Given the description of an element on the screen output the (x, y) to click on. 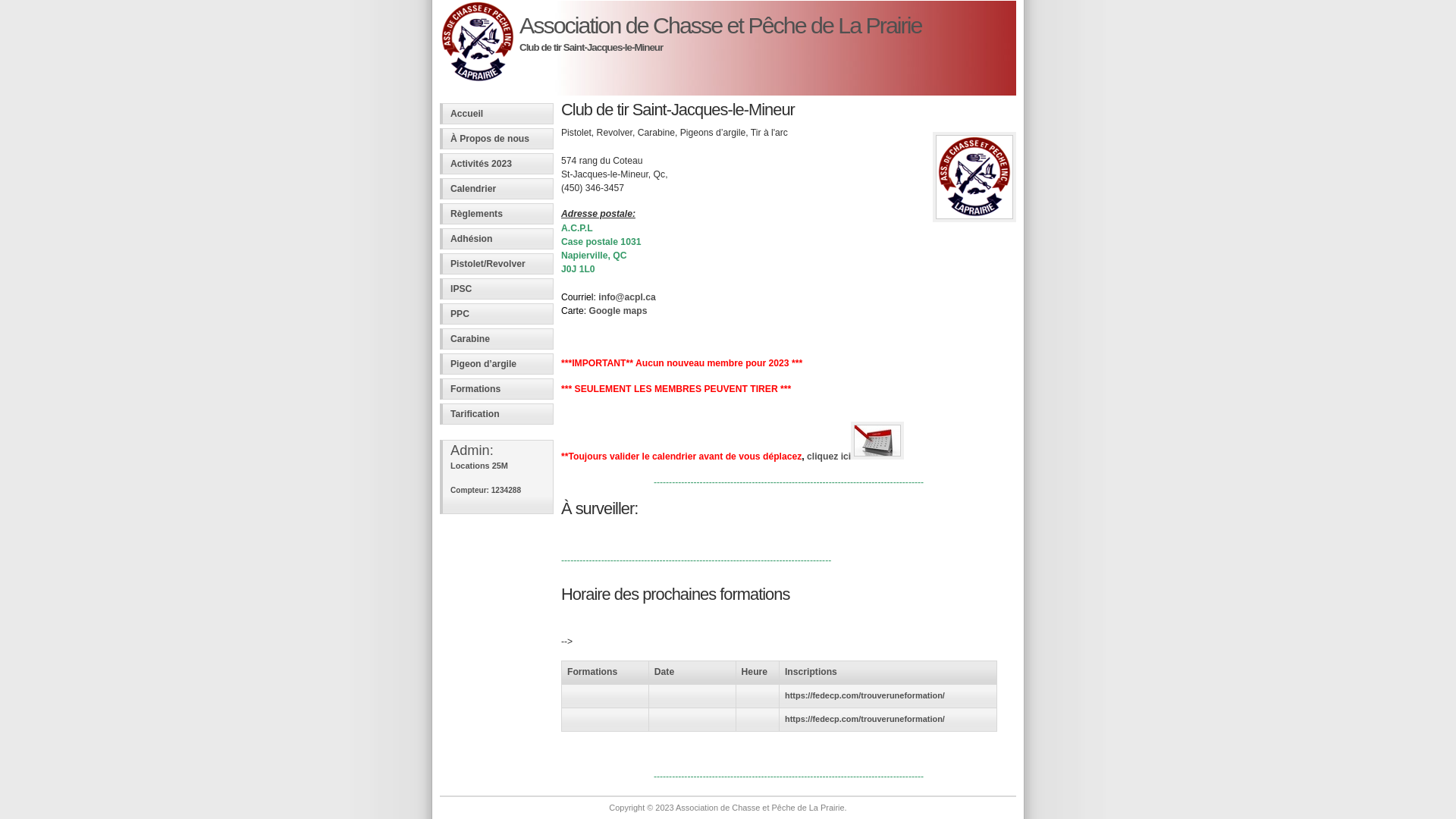
Pistolet/Revolver Element type: text (496, 263)
PPC Element type: text (496, 313)
Accueil Element type: text (496, 113)
Google maps Element type: text (617, 310)
Formations Element type: text (496, 388)
https://fedecp.com/trouveruneformation/ Element type: text (864, 718)
Locations 25M Element type: text (479, 465)
IPSC Element type: text (496, 288)
cliquez ici Element type: text (854, 456)
Calendrier Element type: text (496, 188)
https://fedecp.com/trouveruneformation/ Element type: text (864, 694)
Carabine Element type: text (496, 338)
info@acpl.ca Element type: text (626, 296)
Tarification Element type: text (496, 413)
